Given the description of an element on the screen output the (x, y) to click on. 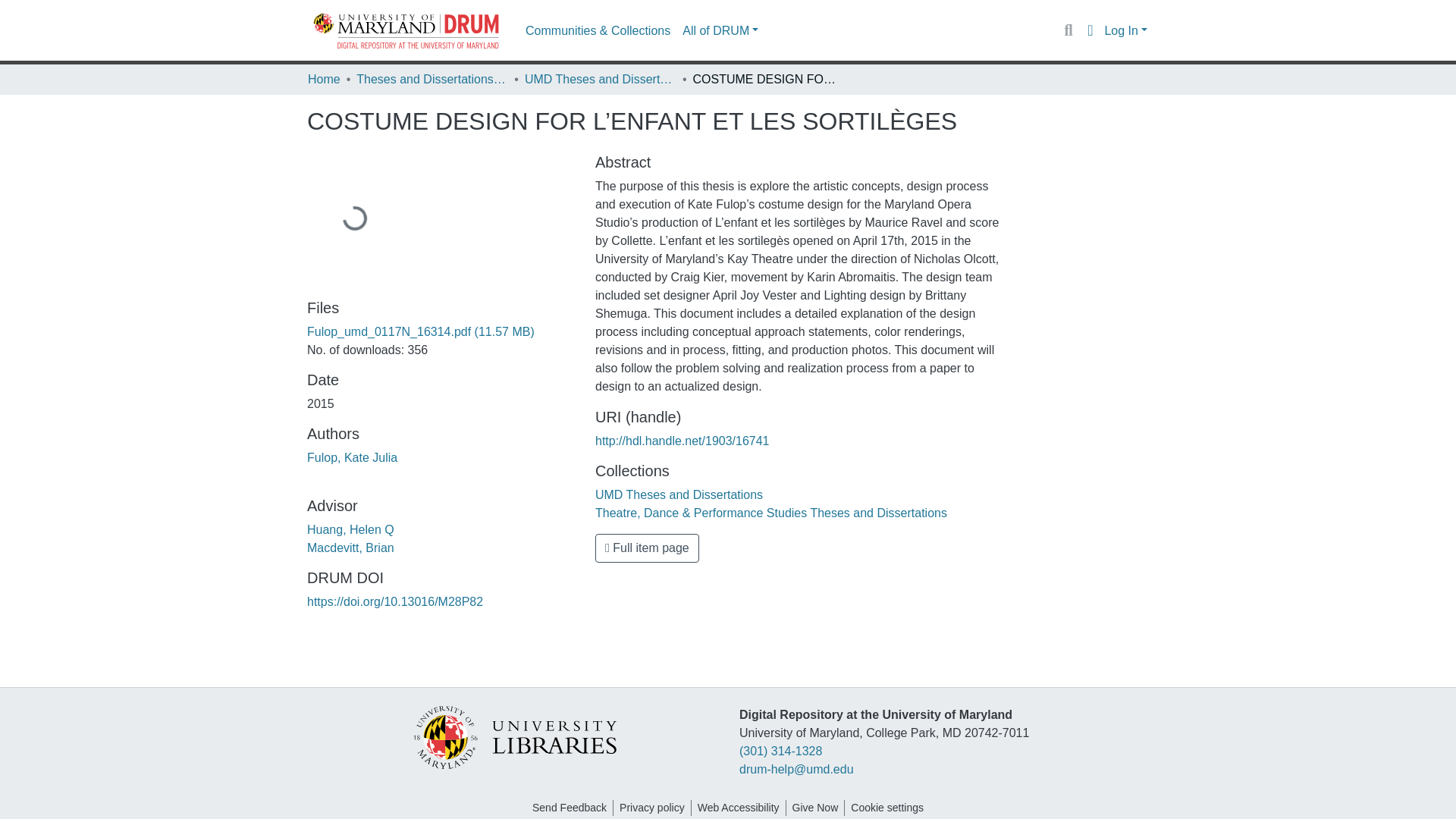
Web Accessibility (738, 807)
Theses and Dissertations from UMD (432, 79)
Send Feedback (568, 807)
Fulop, Kate Julia (352, 457)
Home (323, 79)
Privacy policy (651, 807)
Language switch (1089, 30)
Macdevitt, Brian (350, 547)
Full item page (646, 547)
Log In (1125, 30)
